Given the description of an element on the screen output the (x, y) to click on. 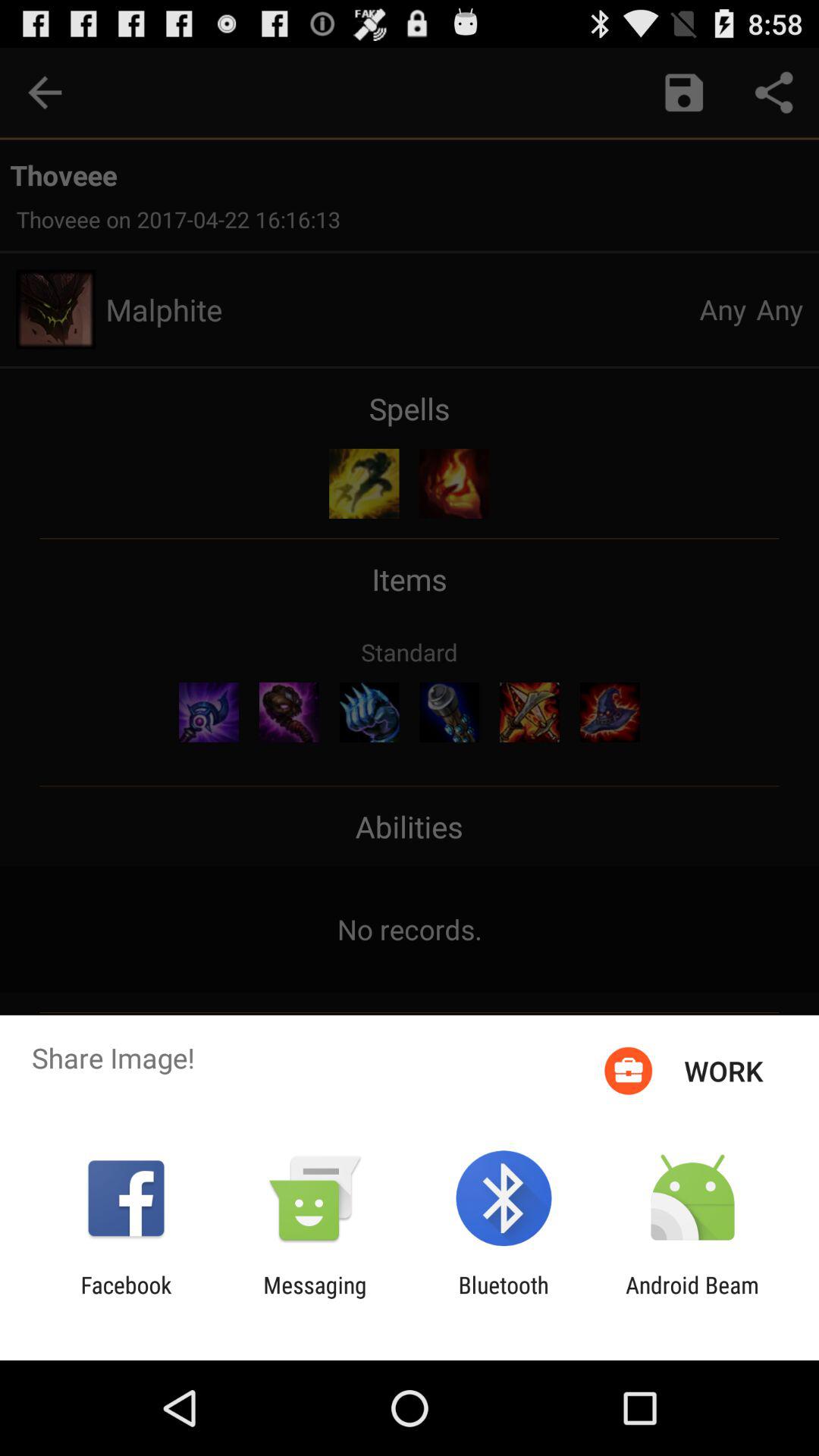
launch the app to the left of android beam app (503, 1298)
